Given the description of an element on the screen output the (x, y) to click on. 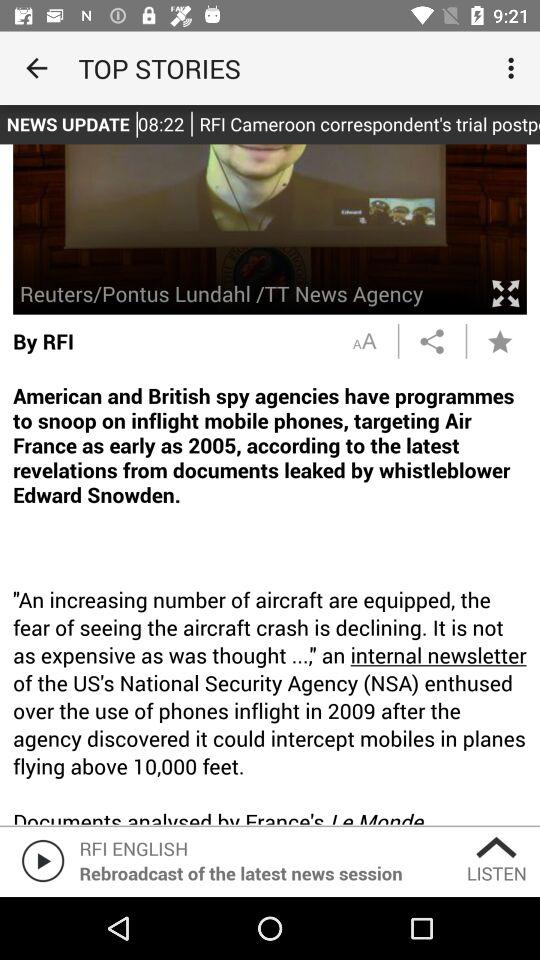
click on arrow above listen (497, 847)
select icon at the top right corner (514, 68)
select a star icon which is on the right side of the page (500, 340)
